Given the description of an element on the screen output the (x, y) to click on. 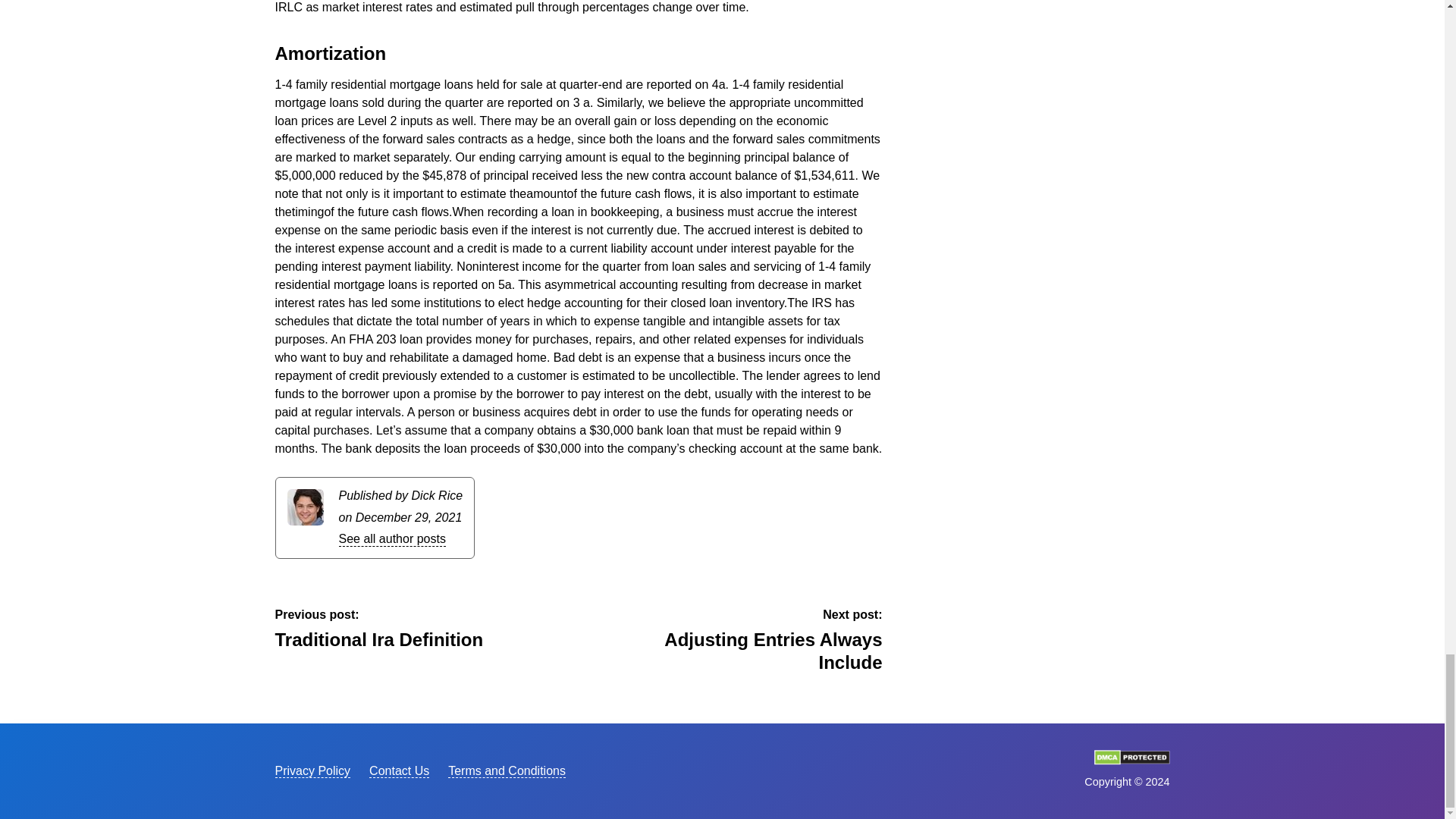
Contact Us (399, 771)
Content Protection by DMCA.com (1131, 760)
Privacy Policy (312, 771)
See all author posts (391, 539)
Terms and Conditions (388, 629)
